Given the description of an element on the screen output the (x, y) to click on. 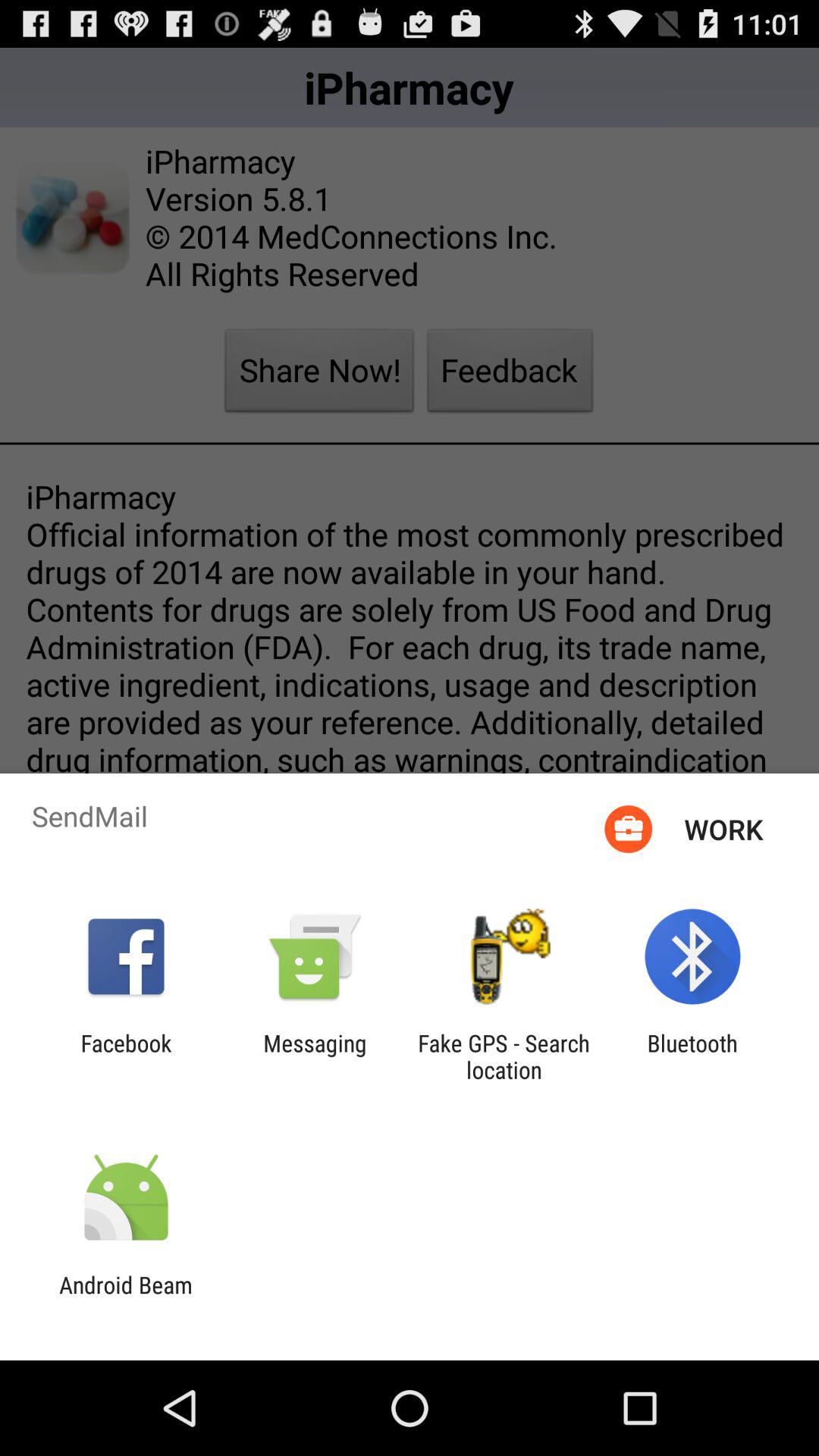
press the item to the left of the messaging icon (125, 1056)
